Given the description of an element on the screen output the (x, y) to click on. 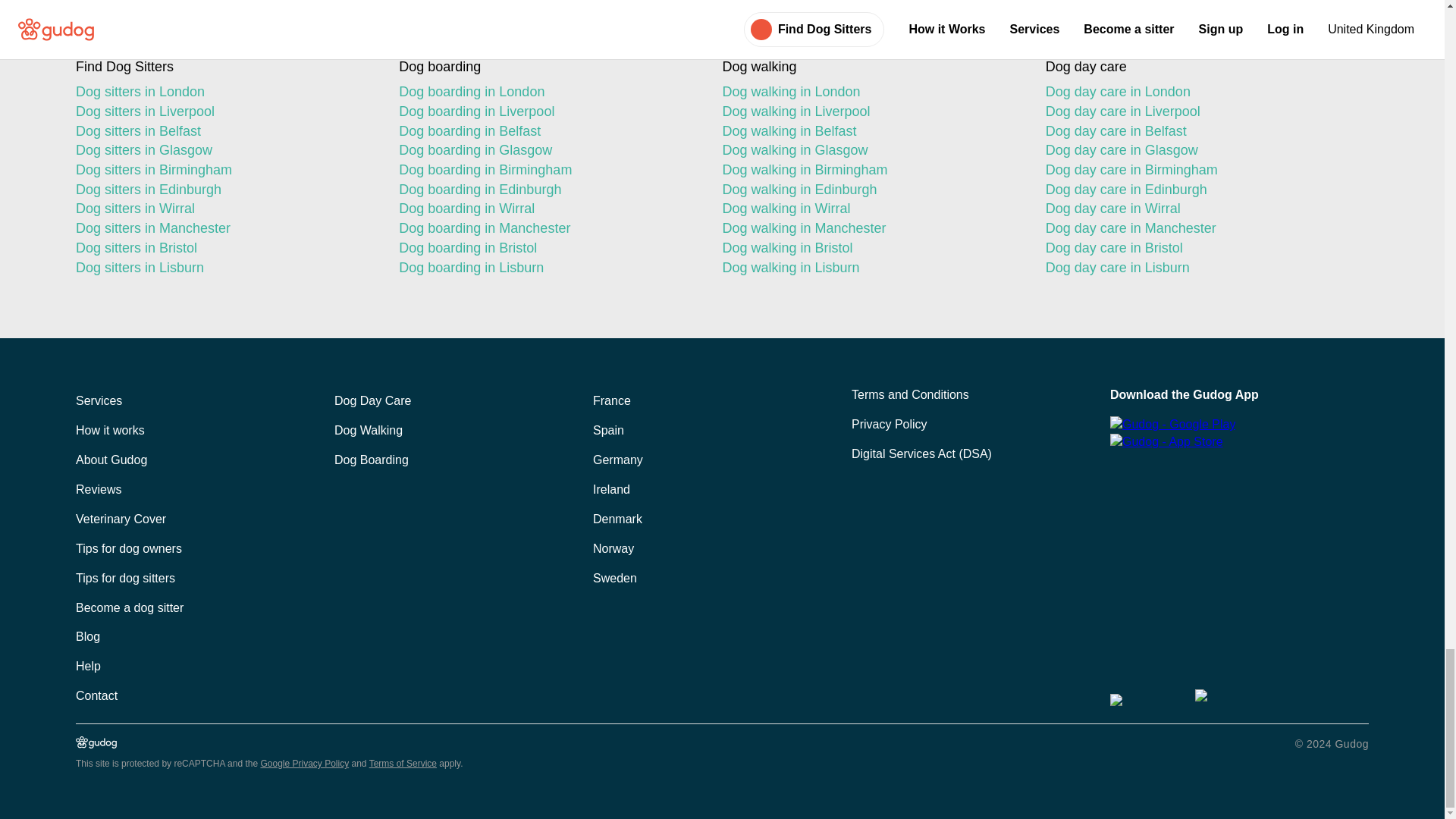
Dog sitters in Edinburgh (224, 189)
Dog sitters in Edinburgh (224, 189)
Dog sitters in Liverpool (224, 112)
Dog sitters in Wirral (224, 209)
Dog sitters in Lisburn (224, 268)
Dog sitters in Bristol (224, 248)
Dog sitters in London (224, 92)
Dog sitters in Glasgow (224, 150)
Dog sitters in Belfast (224, 130)
Dog sitters in Bristol (224, 248)
Dog sitters in Lisburn (224, 268)
Dog sitters in Manchester (224, 229)
Dog sitters in Birmingham (224, 170)
Dog sitters in Liverpool (224, 112)
Dog sitters in Manchester (224, 229)
